Given the description of an element on the screen output the (x, y) to click on. 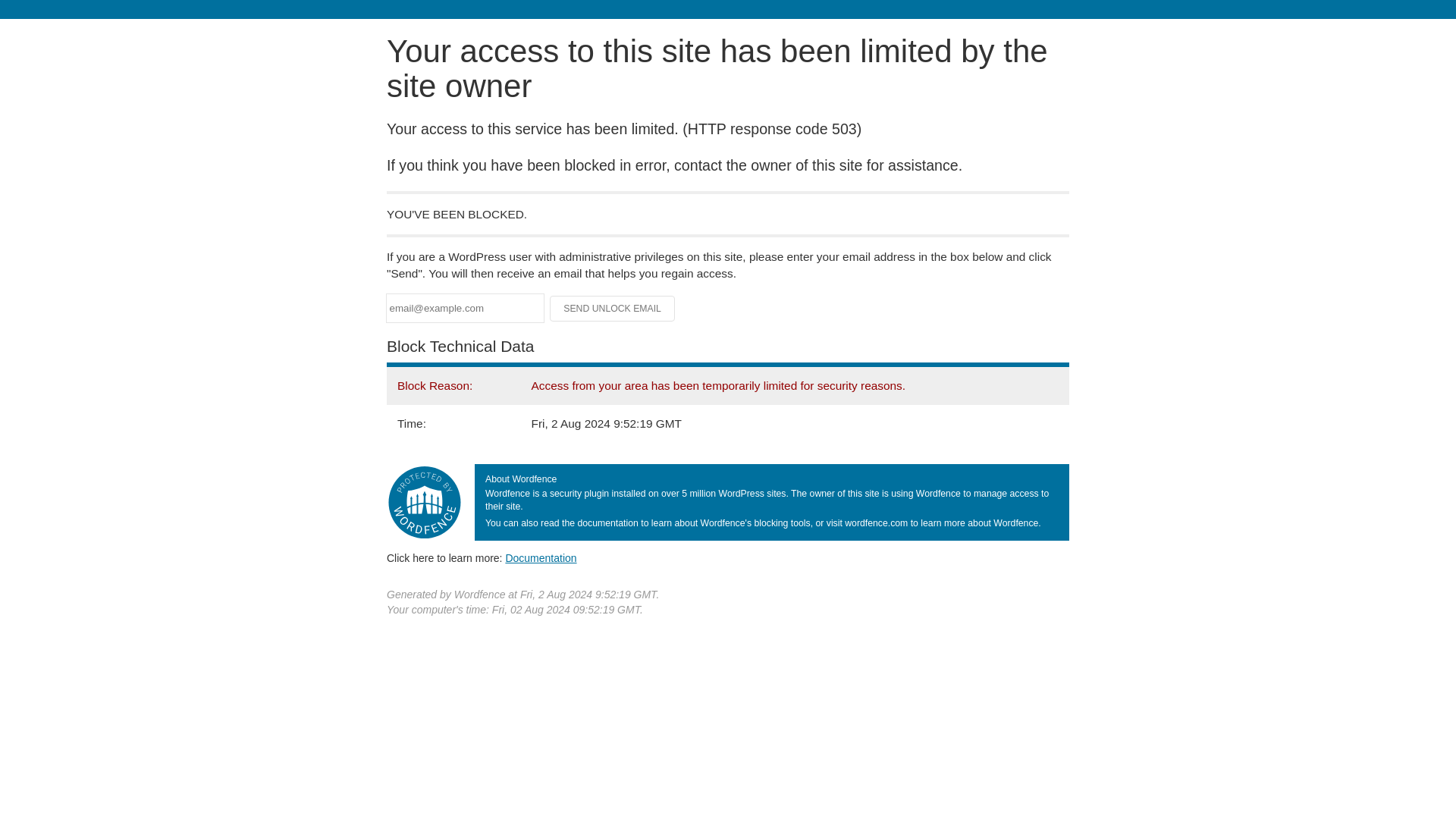
Send Unlock Email (612, 308)
Send Unlock Email (612, 308)
Documentation (540, 558)
